Given the description of an element on the screen output the (x, y) to click on. 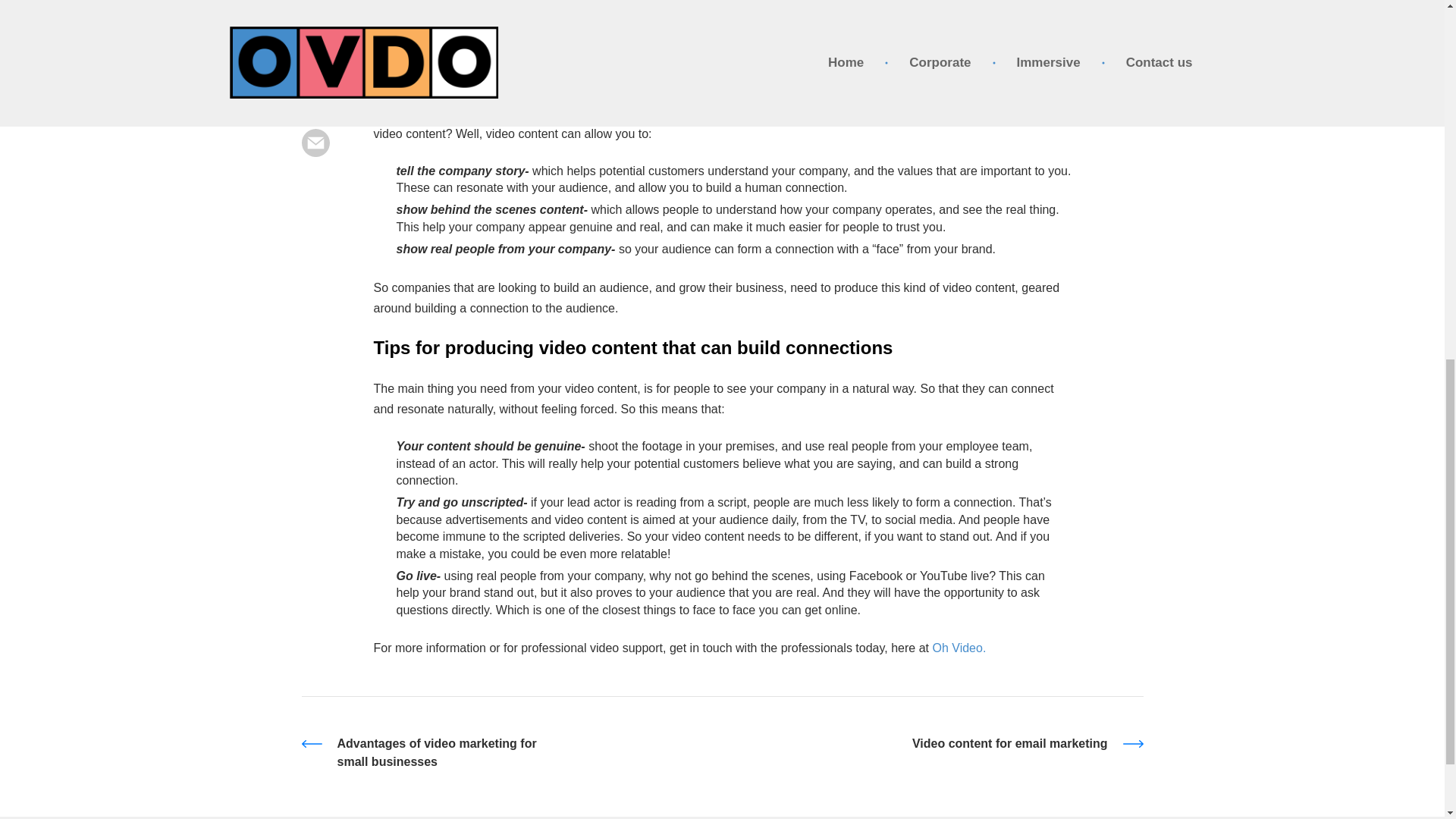
Contact us (884, 149)
Oh Video. (958, 647)
Video content for email marketing (937, 743)
Advantages of video marketing for small businesses (506, 752)
0161 531 6262 (1082, 157)
